Given the description of an element on the screen output the (x, y) to click on. 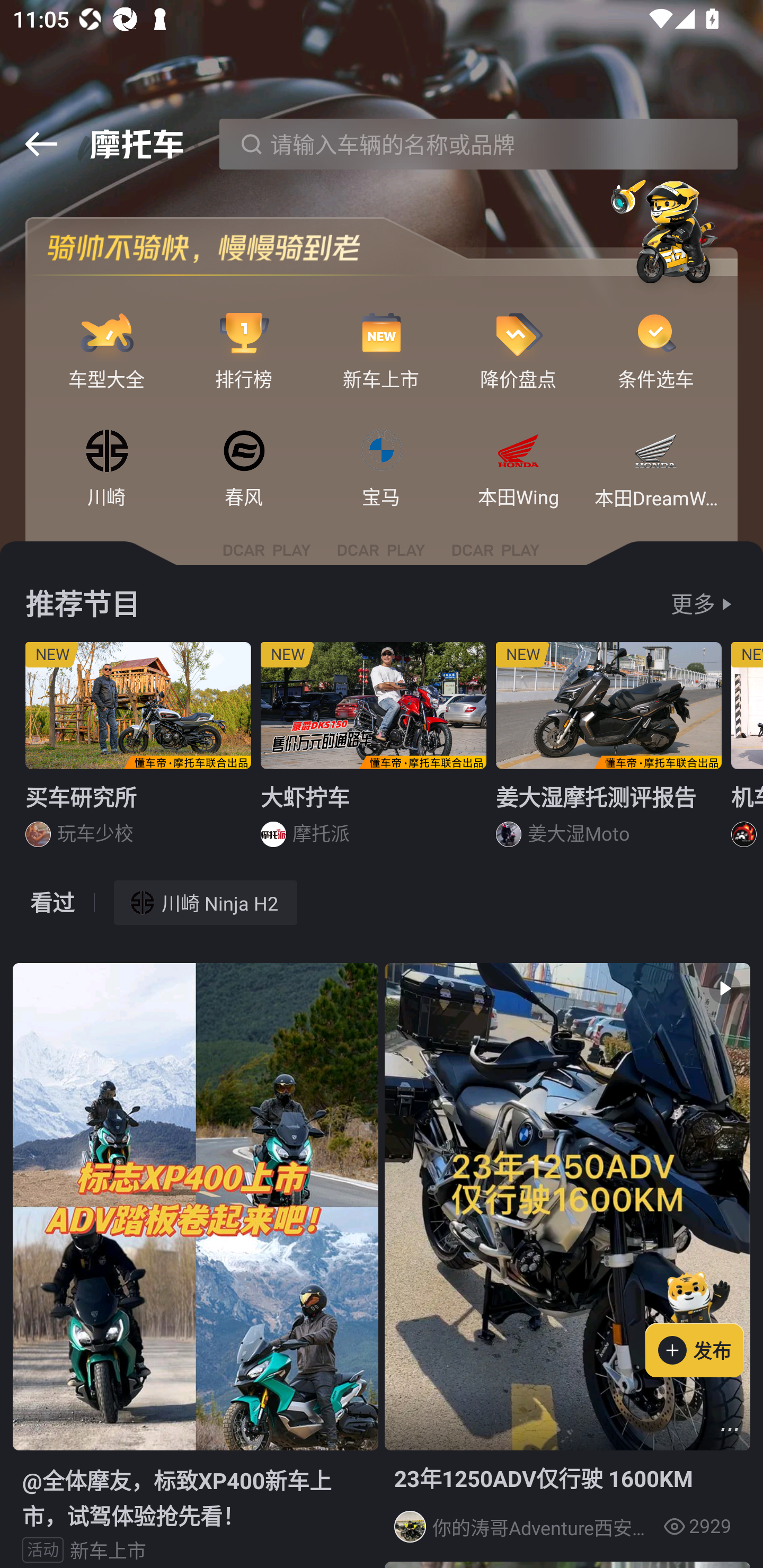
 请输入车辆的名称或品牌 (478, 144)
 (41, 144)
车型大全 (106, 334)
排行榜 (243, 334)
新车上市 (381, 334)
降价盘点 (518, 334)
条件选车 (655, 334)
川崎 (106, 452)
春风 (243, 452)
宝马 (381, 452)
本田Wing (518, 452)
本田DreamWing (655, 452)
更多 (692, 603)
NEW 买车研究所 玩车少校 (138, 750)
NEW 大虾拧车 摩托派 (373, 750)
NEW 姜大湿摩托测评报告 姜大湿Moto (608, 750)
川崎 Ninja H2 (205, 902)
@全体摩友，标致XP400新车上市，试驾体验抢先看！ 活动 新车上市 (195, 1265)
发布 (704, 1320)
 (729, 1429)
